Given the description of an element on the screen output the (x, y) to click on. 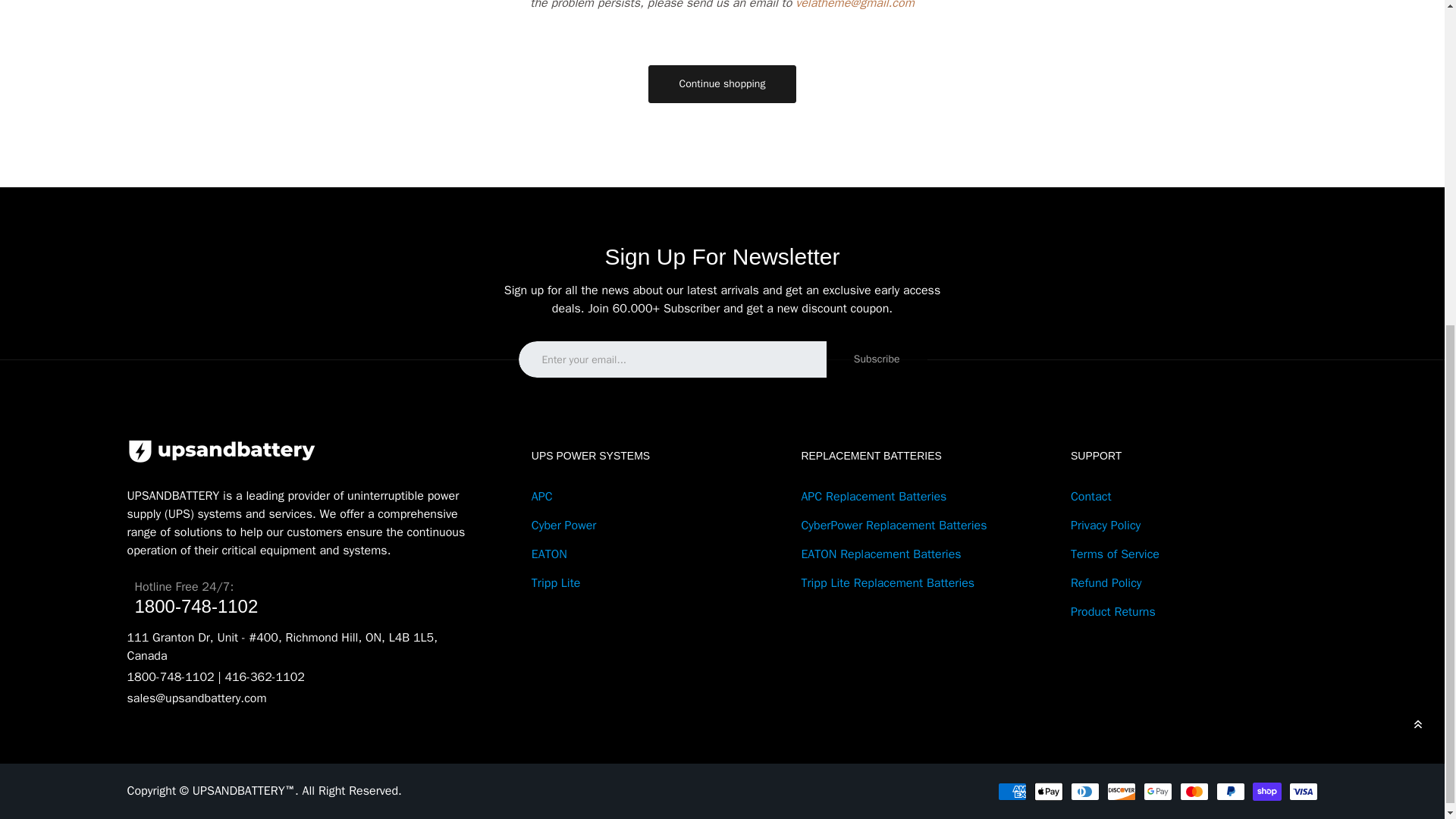
Cyber Power (563, 525)
Google Pay (1157, 791)
Shop Pay (1266, 791)
Continue shopping (721, 84)
APC (542, 496)
Discover (1120, 791)
American Express (1011, 791)
PayPal (1229, 791)
Subscribe (877, 359)
Visa (1302, 791)
EATON (549, 554)
Mastercard (1193, 791)
Diners Club (1084, 791)
Apple Pay (1047, 791)
